Given the description of an element on the screen output the (x, y) to click on. 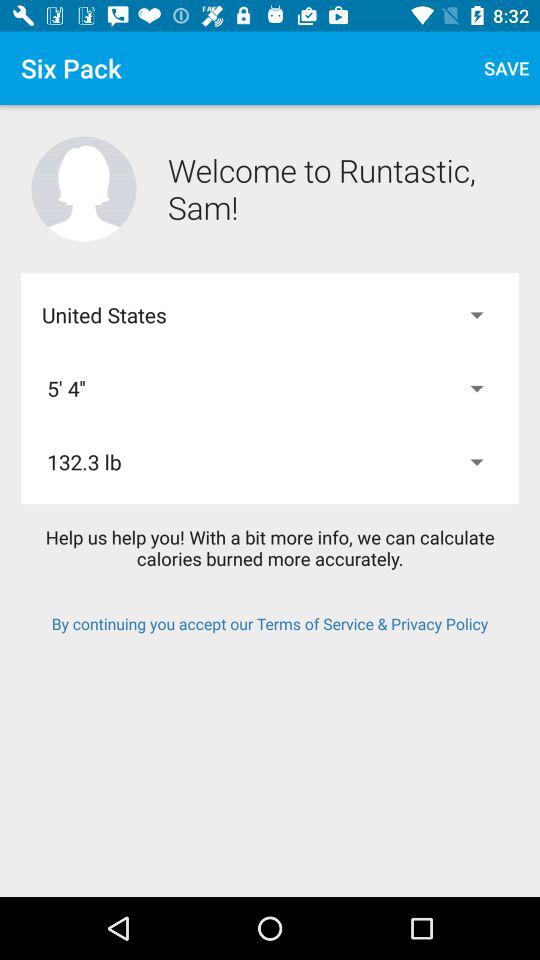
open the item above 132.3 lb (269, 388)
